Given the description of an element on the screen output the (x, y) to click on. 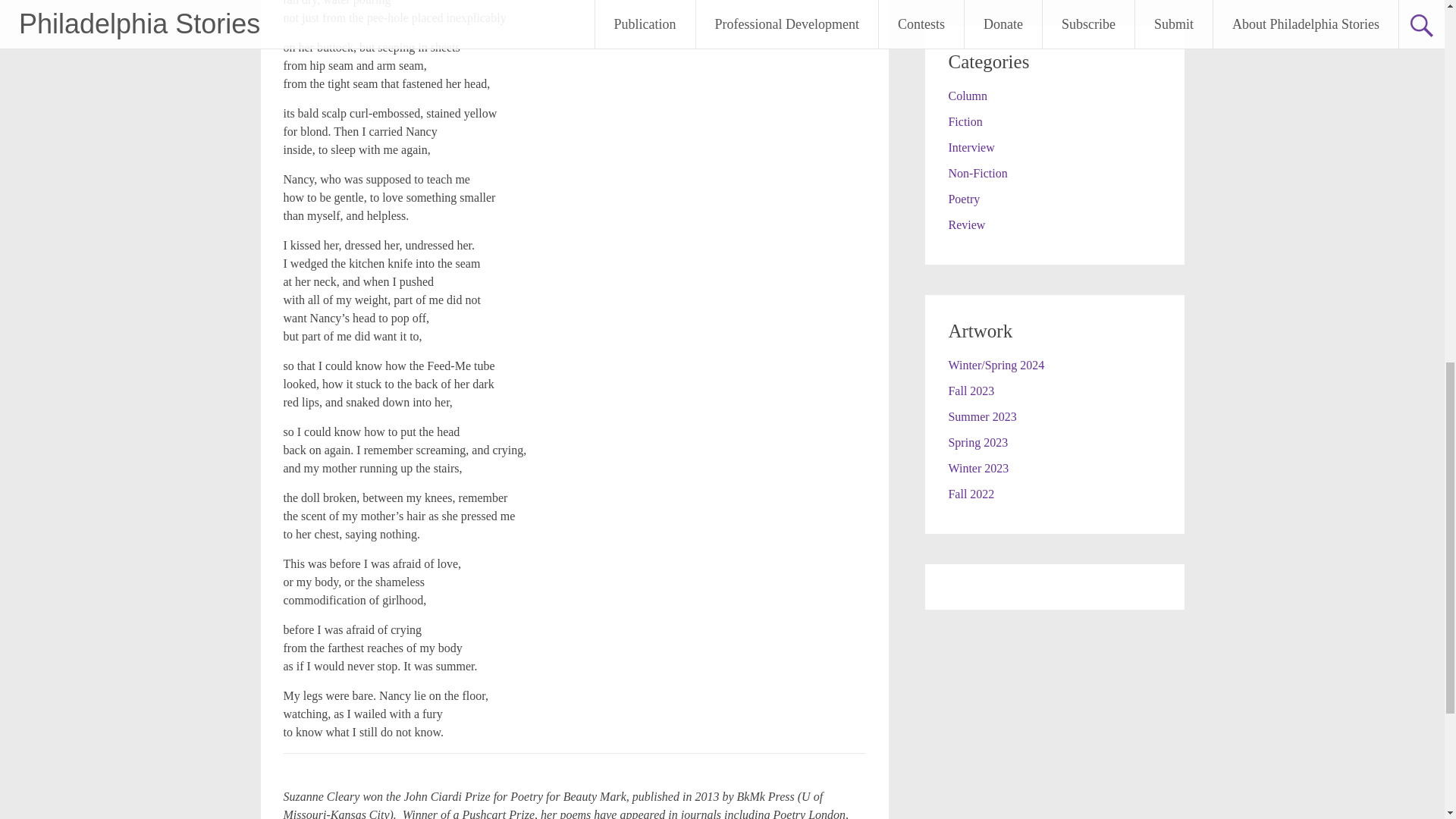
Column (967, 95)
Fiction (964, 121)
Poetry (963, 198)
Non-Fiction (977, 173)
Fall 2023 (970, 390)
Review (966, 224)
Interview (970, 146)
